Given the description of an element on the screen output the (x, y) to click on. 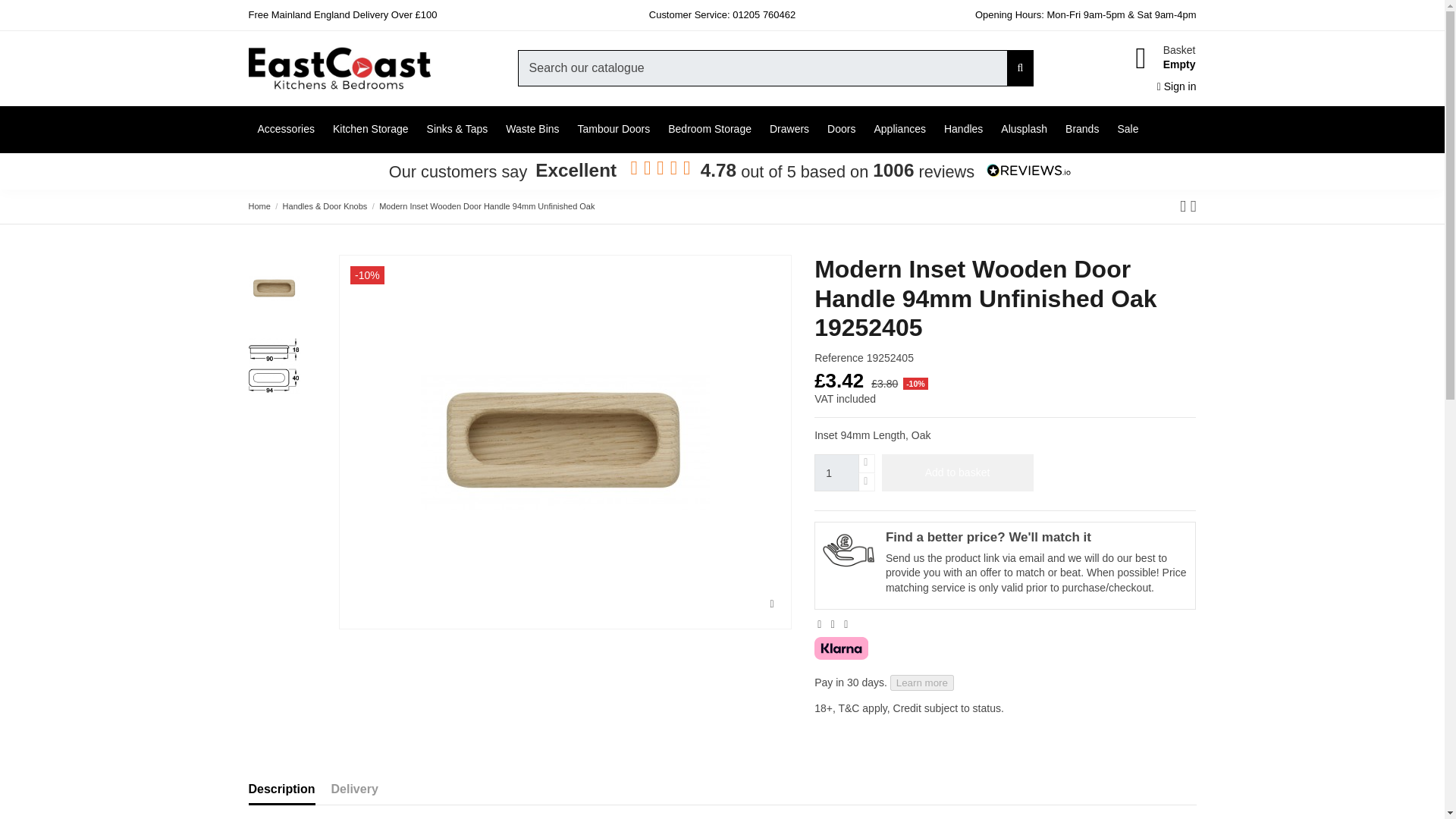
1 (836, 472)
Accessories (285, 129)
Sign in (1176, 86)
Reviews Widget (721, 169)
Log in to your customer account (1176, 86)
